Given the description of an element on the screen output the (x, y) to click on. 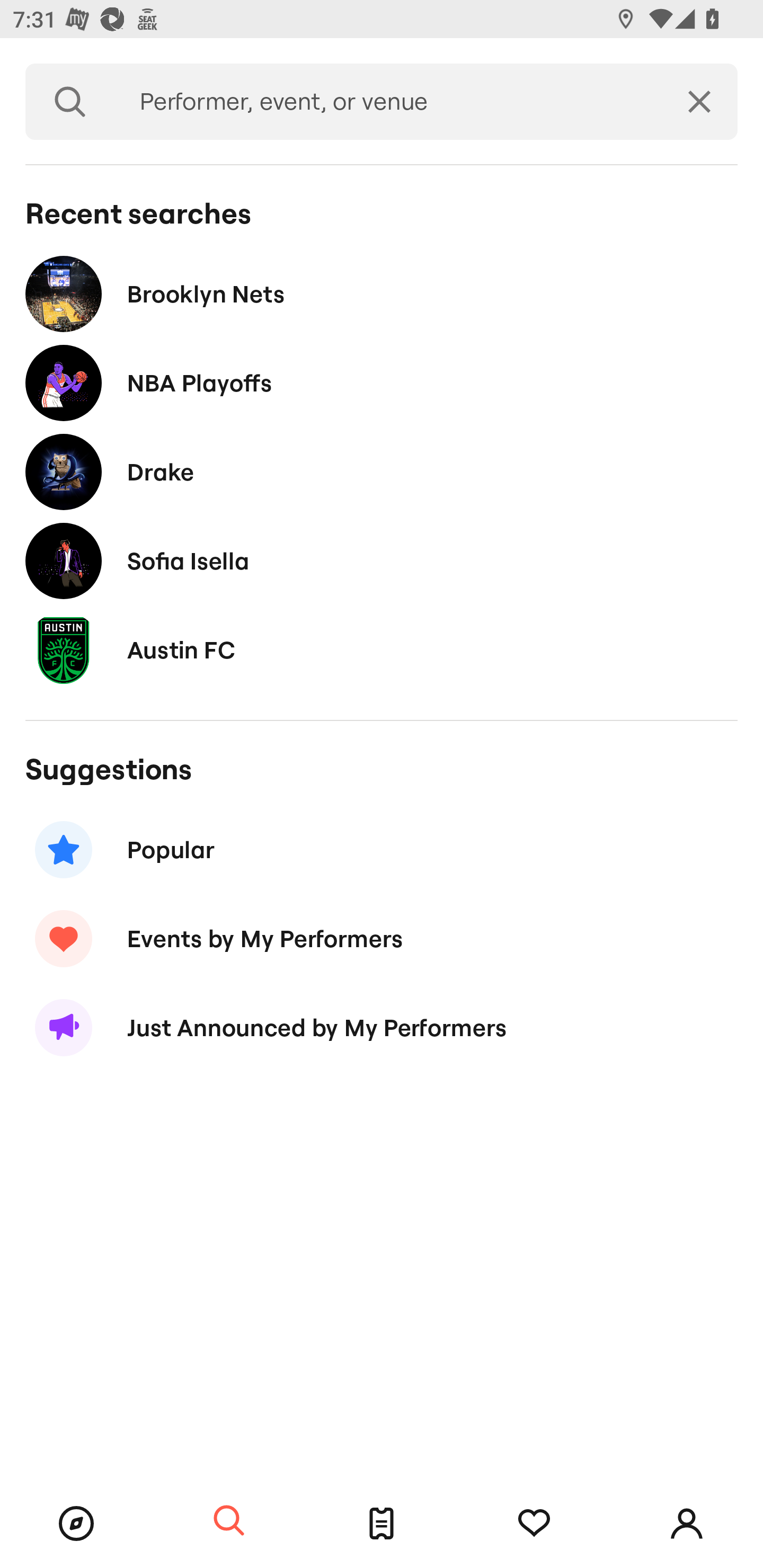
Search (69, 101)
Performer, event, or venue (387, 101)
Clear (699, 101)
Brooklyn Nets (381, 293)
NBA Playoffs (381, 383)
Drake (381, 471)
Sofia Isella (381, 560)
Austin FC (381, 649)
Popular (381, 849)
Events by My Performers (381, 938)
Just Announced by My Performers (381, 1027)
Browse (76, 1523)
Search (228, 1521)
Tickets (381, 1523)
Tracking (533, 1523)
Account (686, 1523)
